Given the description of an element on the screen output the (x, y) to click on. 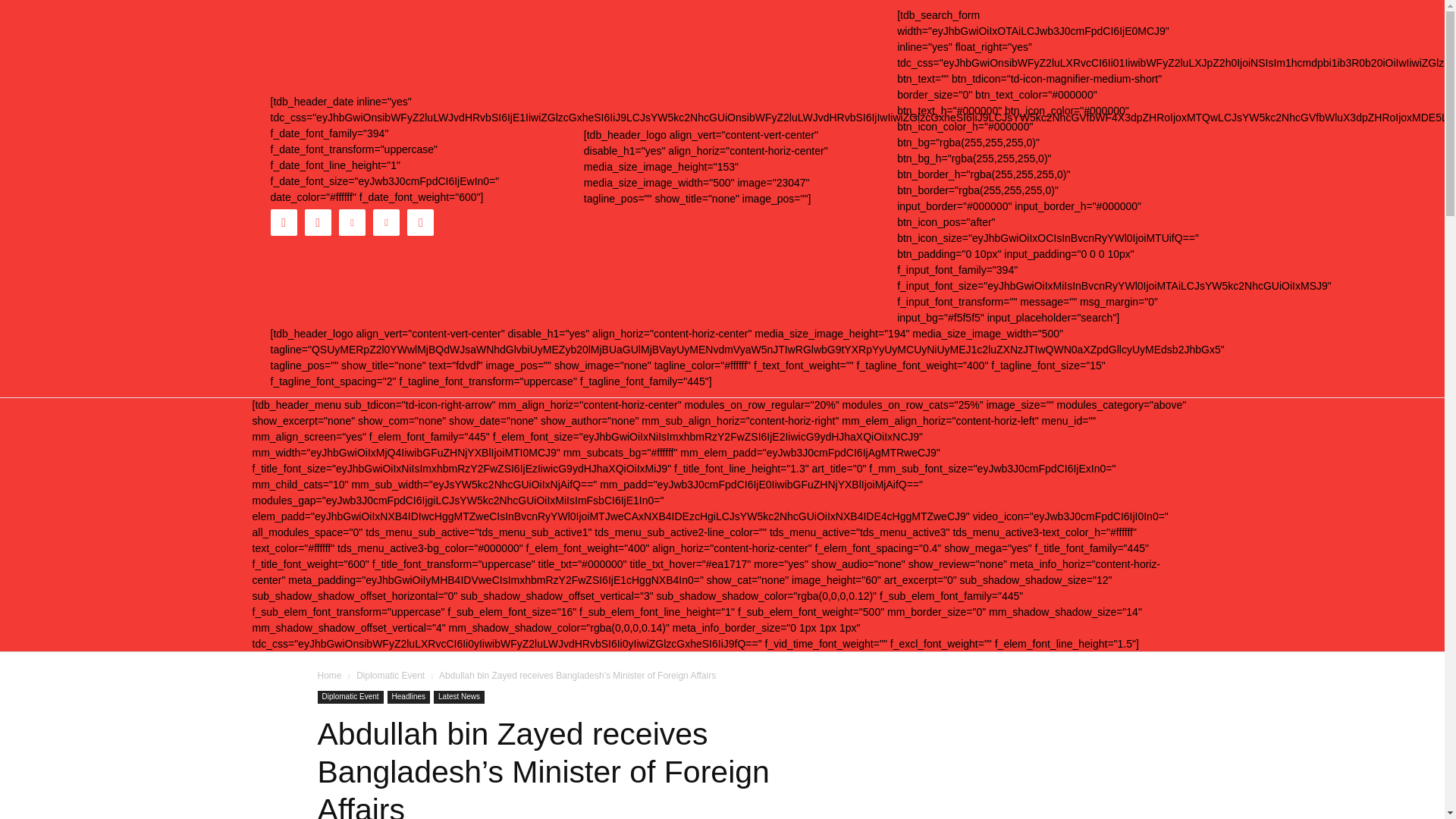
Latest News (458, 697)
Youtube (420, 222)
Twitter (385, 222)
View all posts in Diplomatic Event (390, 675)
Linkedin (352, 222)
Home (328, 675)
Headlines (408, 697)
Facebook (283, 222)
Instagram (317, 222)
Diplomatic Event (349, 697)
Diplomatic Event (390, 675)
